Given the description of an element on the screen output the (x, y) to click on. 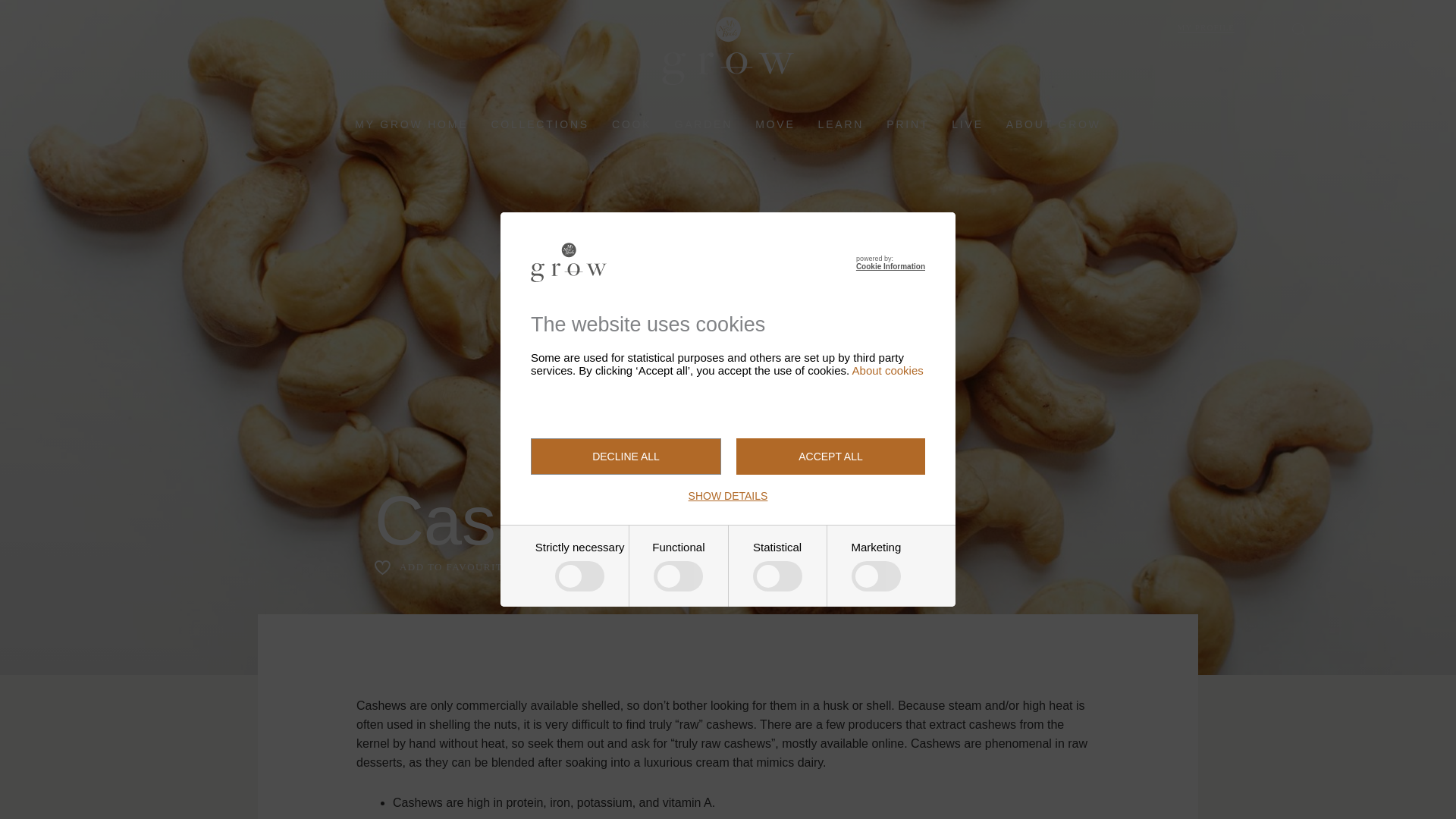
DECLINE ALL (625, 456)
About cookies (887, 369)
Cookie Information (890, 266)
SHOW DETAILS (728, 495)
ACCEPT ALL (830, 456)
